Given the description of an element on the screen output the (x, y) to click on. 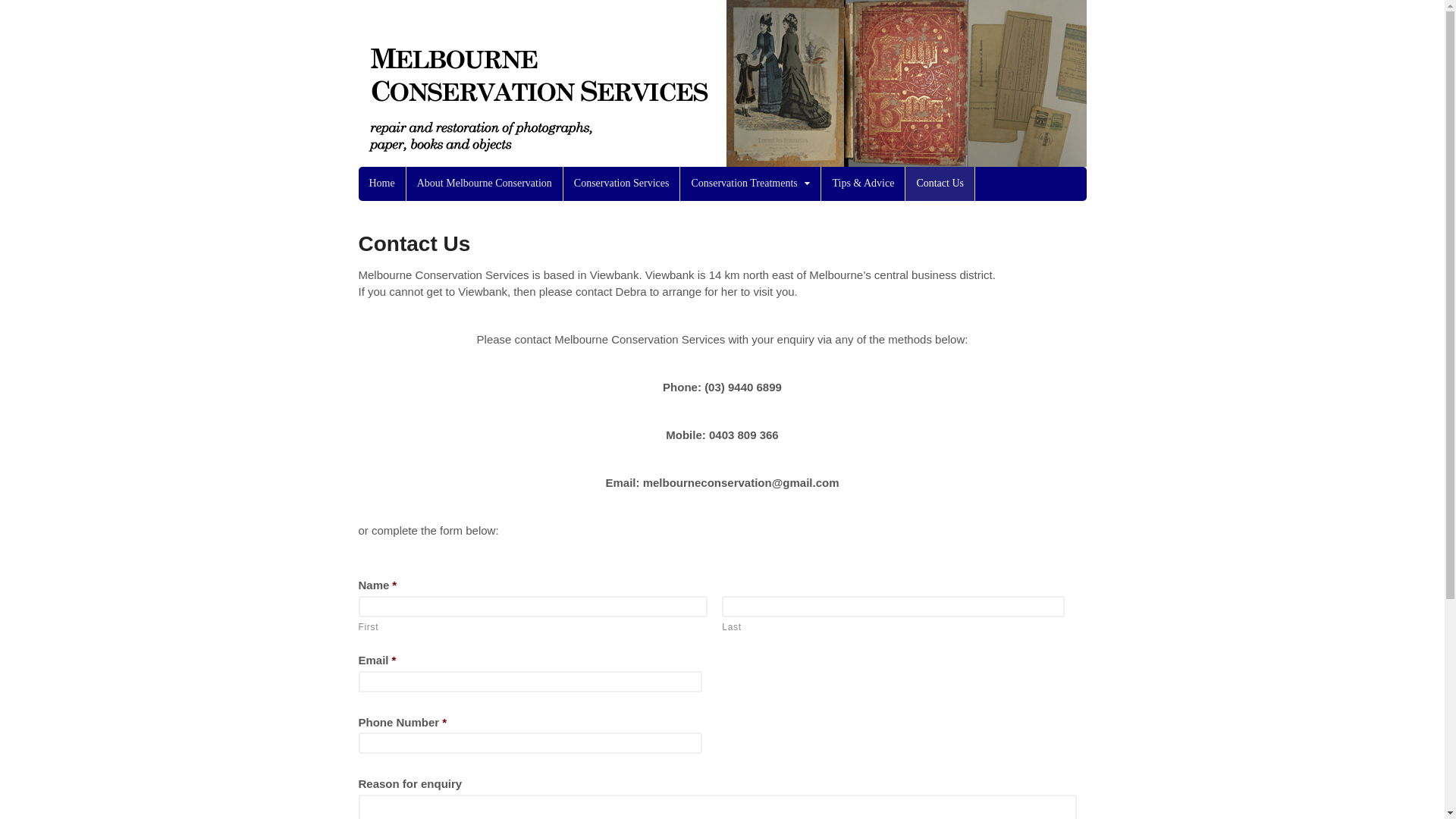
Conservation Services Element type: text (621, 183)
Tips & Advice Element type: text (862, 183)
Contact Us Element type: text (939, 183)
About Melbourne Conservation Element type: text (484, 183)
Home Element type: text (380, 183)
Conservation Treatments Element type: text (750, 183)
Conservation of paper, photographs, books and objects Element type: hover (721, 158)
